Given the description of an element on the screen output the (x, y) to click on. 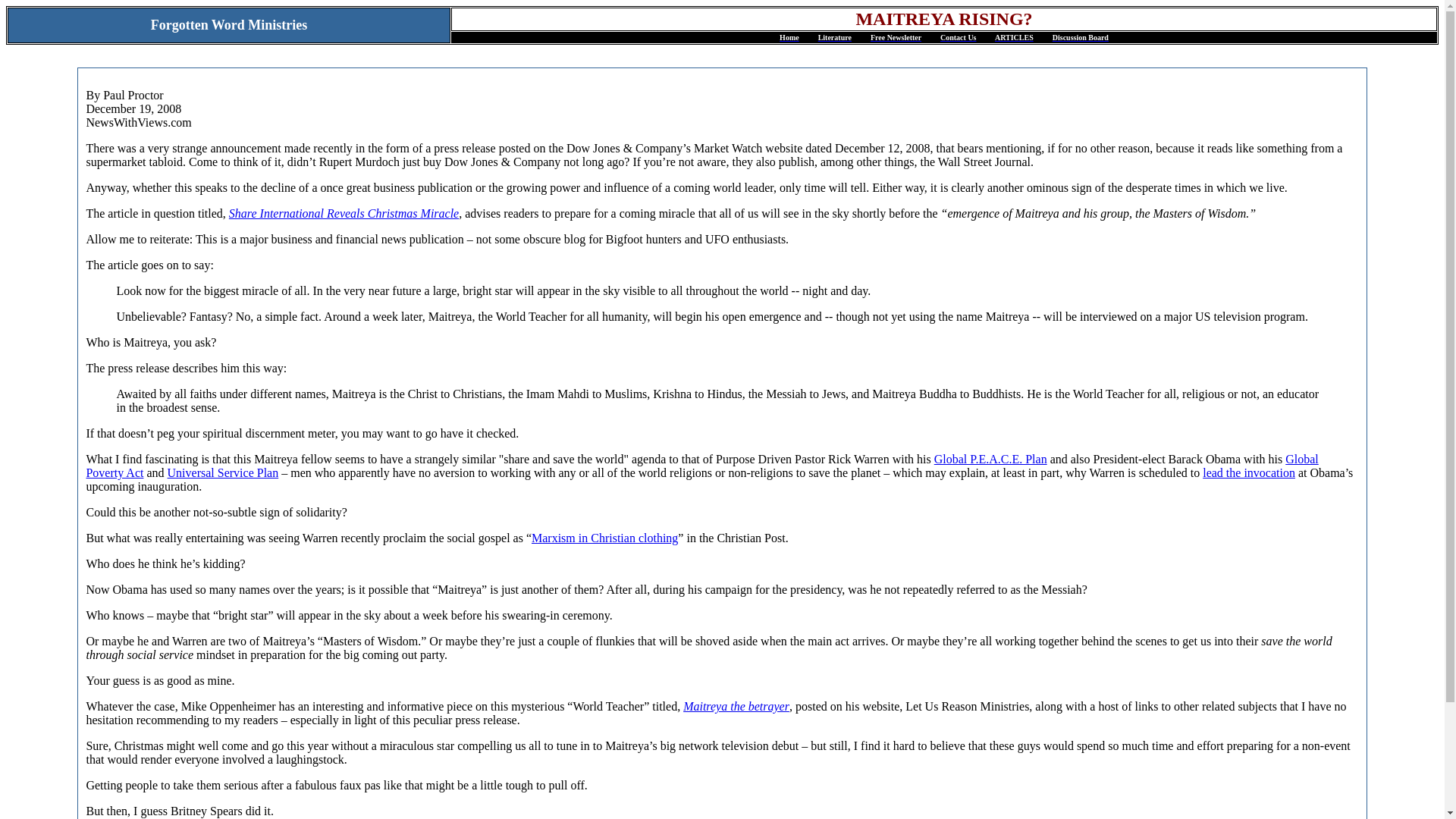
Home (788, 37)
ARTICLES (1013, 37)
lead the invocation (1248, 472)
Free Newsletter (895, 37)
Marxism in Christian clothing (604, 537)
Global P.E.A.C.E. Plan (990, 459)
Maitreya the betrayer (735, 706)
Share International Reveals Christmas Miracle (343, 213)
Discussion Board (1080, 37)
Contact Us (958, 37)
Global Poverty Act (701, 465)
Universal Service Plan (223, 472)
Literature (834, 37)
